Given the description of an element on the screen output the (x, y) to click on. 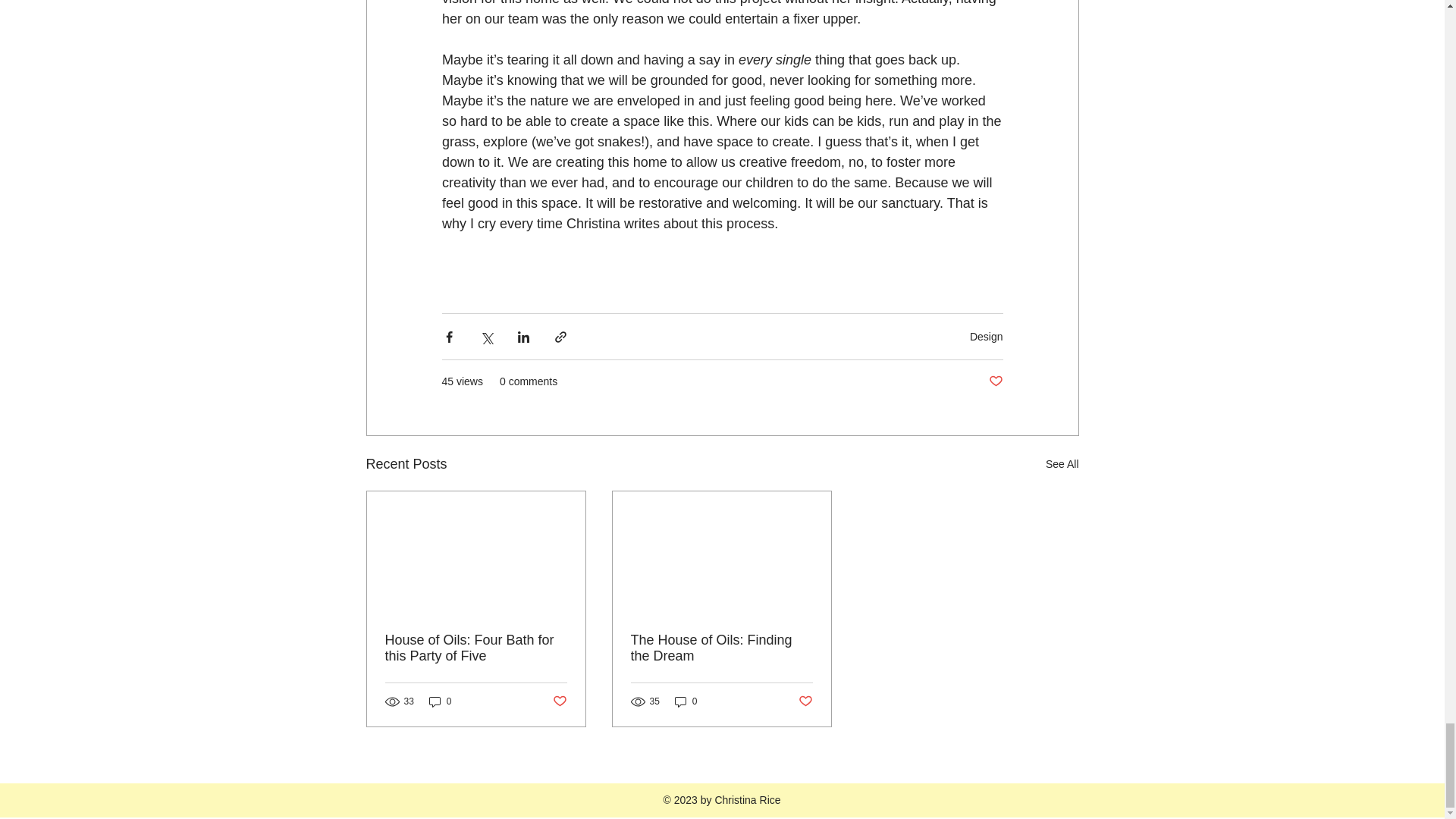
Design (986, 336)
Post not marked as liked (558, 701)
House of Oils: Four Bath for this Party of Five (476, 648)
Post not marked as liked (804, 701)
The House of Oils: Finding the Dream (721, 648)
0 (440, 701)
See All (1061, 464)
0 (685, 701)
Post not marked as liked (995, 381)
